Given the description of an element on the screen output the (x, y) to click on. 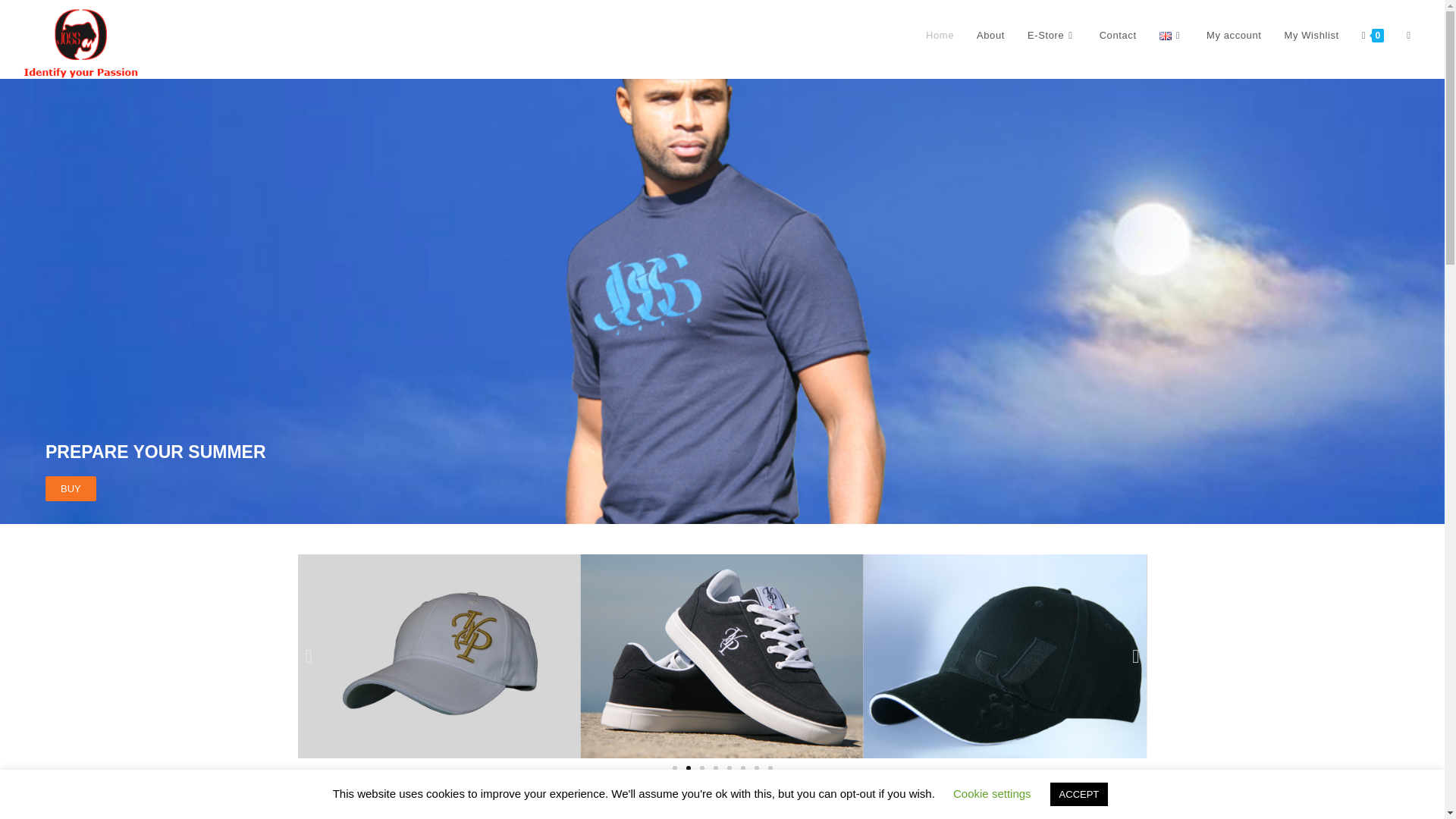
Home (939, 35)
My Wishlist (1310, 35)
E-Store (1051, 35)
BUY (70, 488)
About (990, 35)
Contact (1117, 35)
My account (1233, 35)
